Given the description of an element on the screen output the (x, y) to click on. 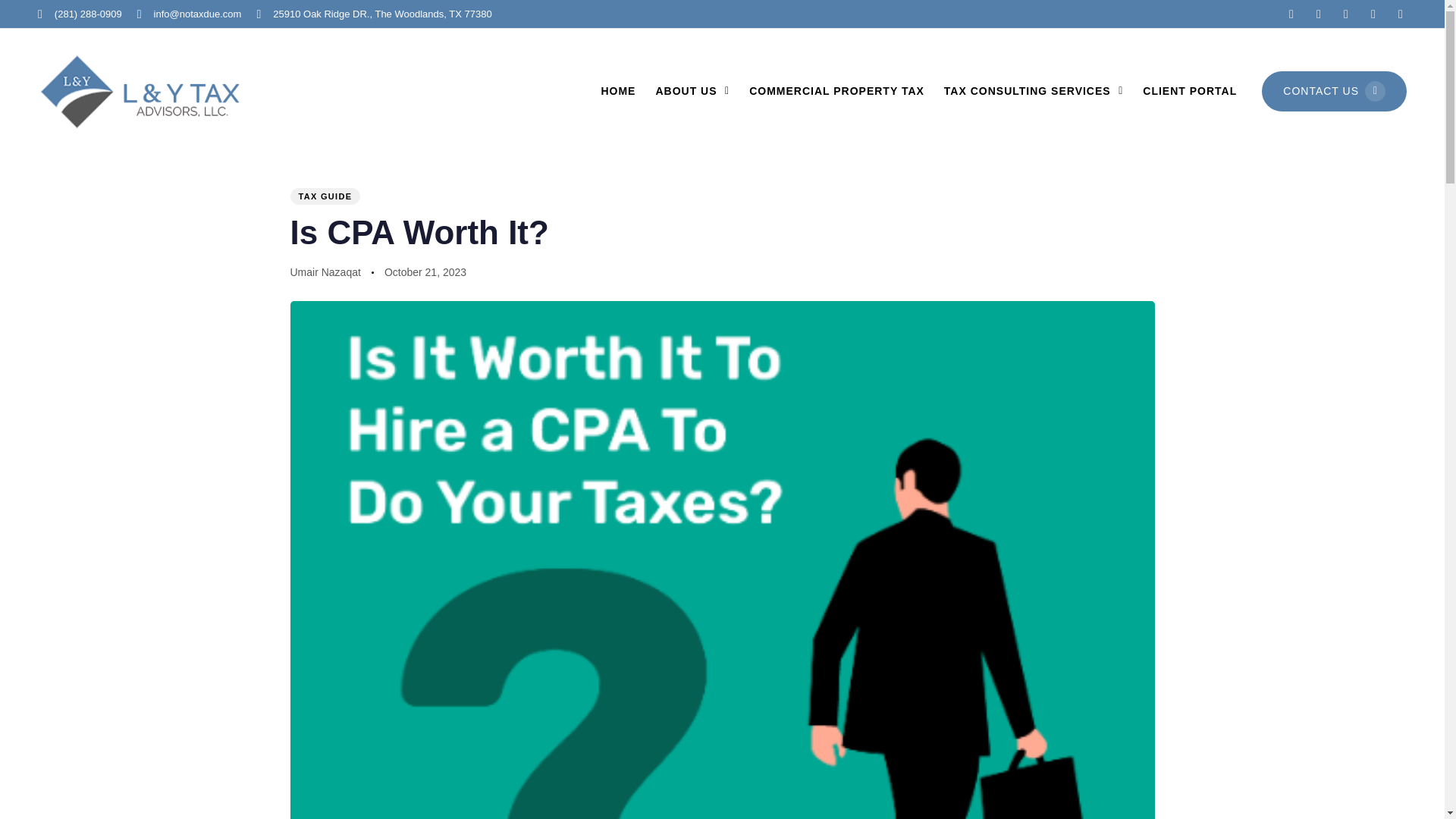
October 21, 2023 (424, 272)
TAX CONSULTING SERVICES (1033, 90)
CONTACT US (1334, 91)
CLIENT PORTAL (1189, 90)
TAX GUIDE (324, 196)
COMMERCIAL PROPERTY TAX (836, 90)
Umair Nazaqat (324, 272)
Posts by Umair Nazaqat (324, 272)
